Given the description of an element on the screen output the (x, y) to click on. 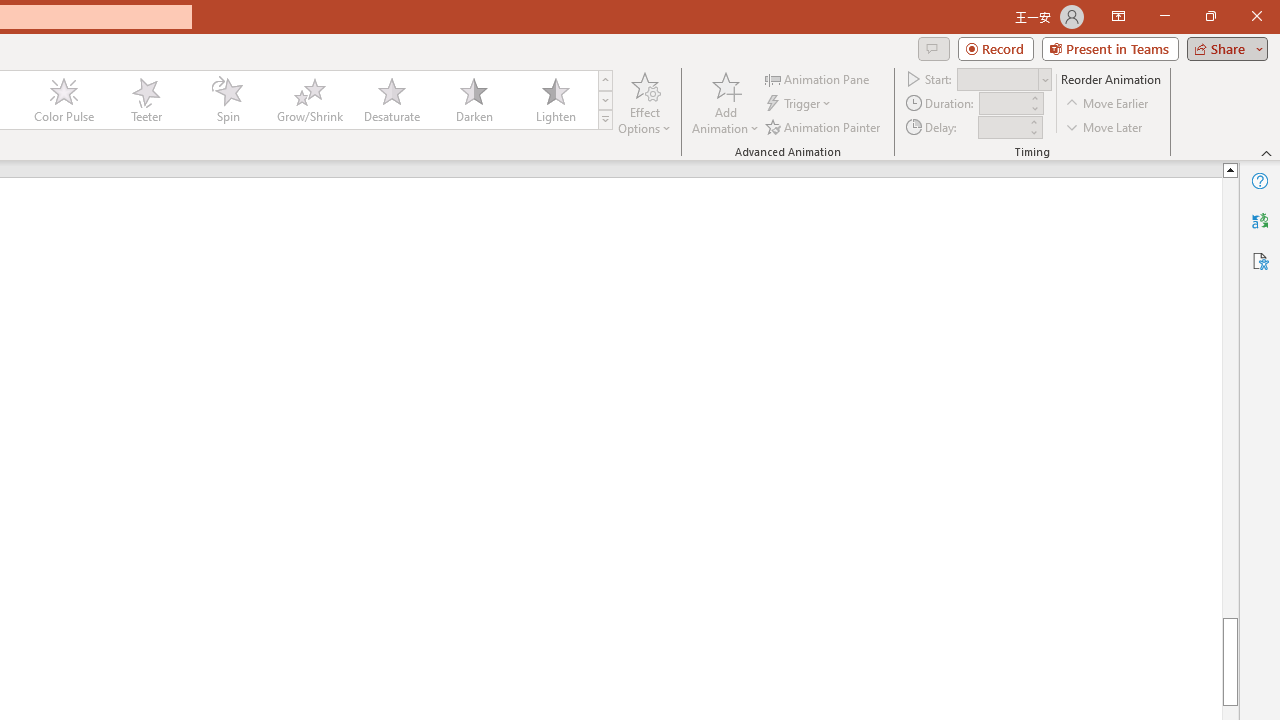
Trigger (799, 103)
Add Animation (725, 102)
Translator (1260, 220)
Teeter (145, 100)
Effect Options (644, 102)
